Given the description of an element on the screen output the (x, y) to click on. 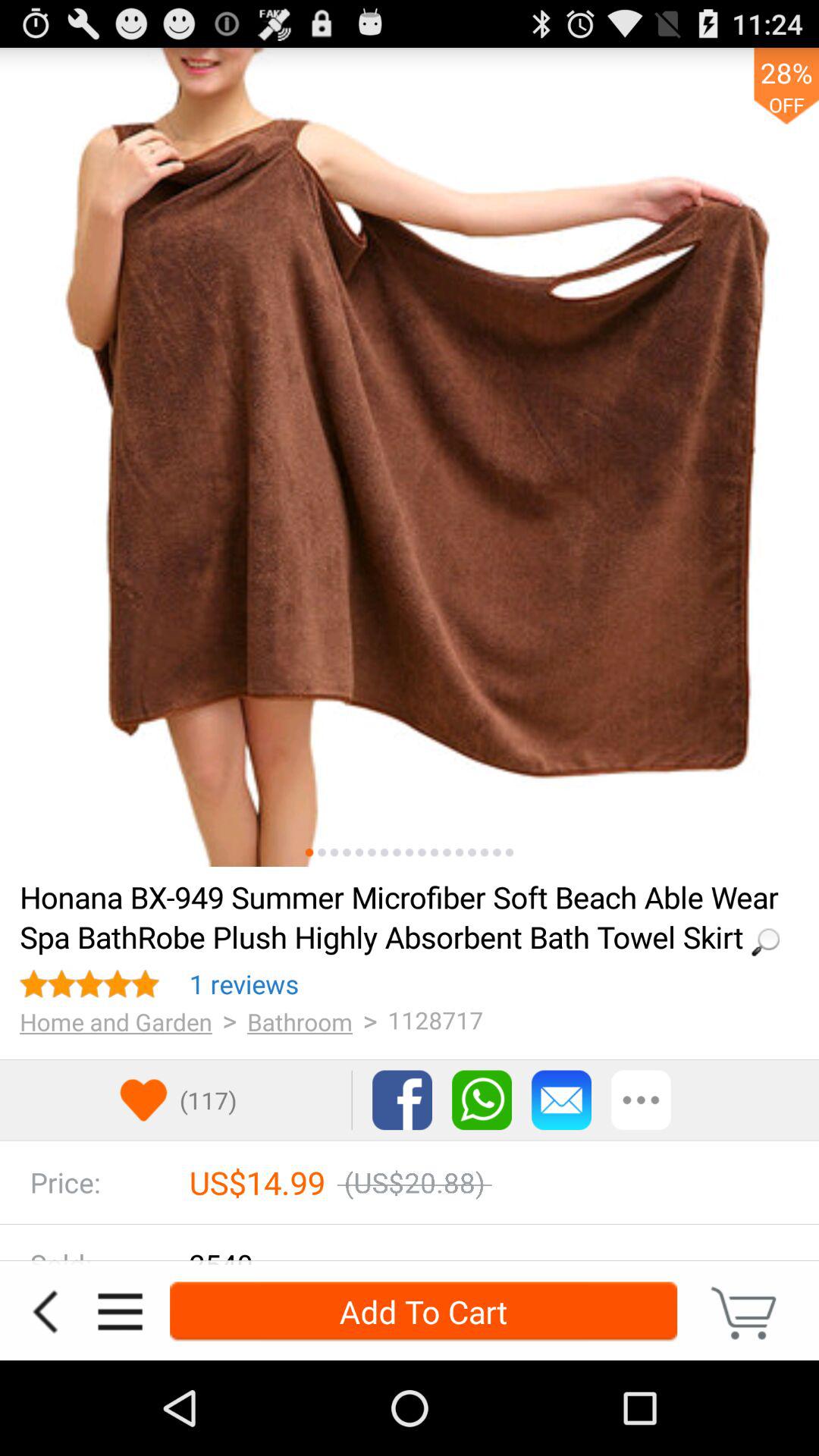
select product image (321, 852)
